Given the description of an element on the screen output the (x, y) to click on. 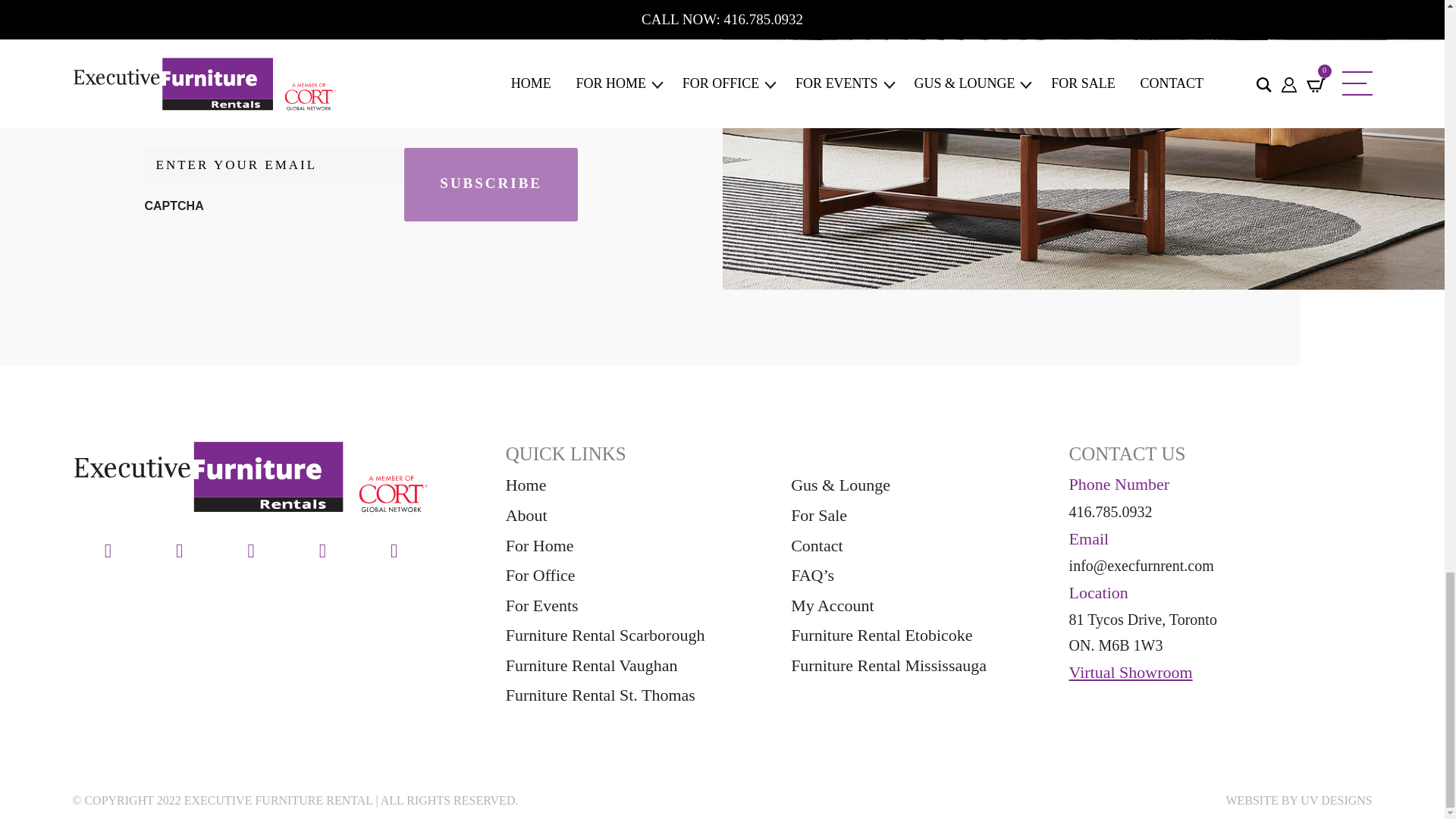
Subscribe (491, 184)
